Given the description of an element on the screen output the (x, y) to click on. 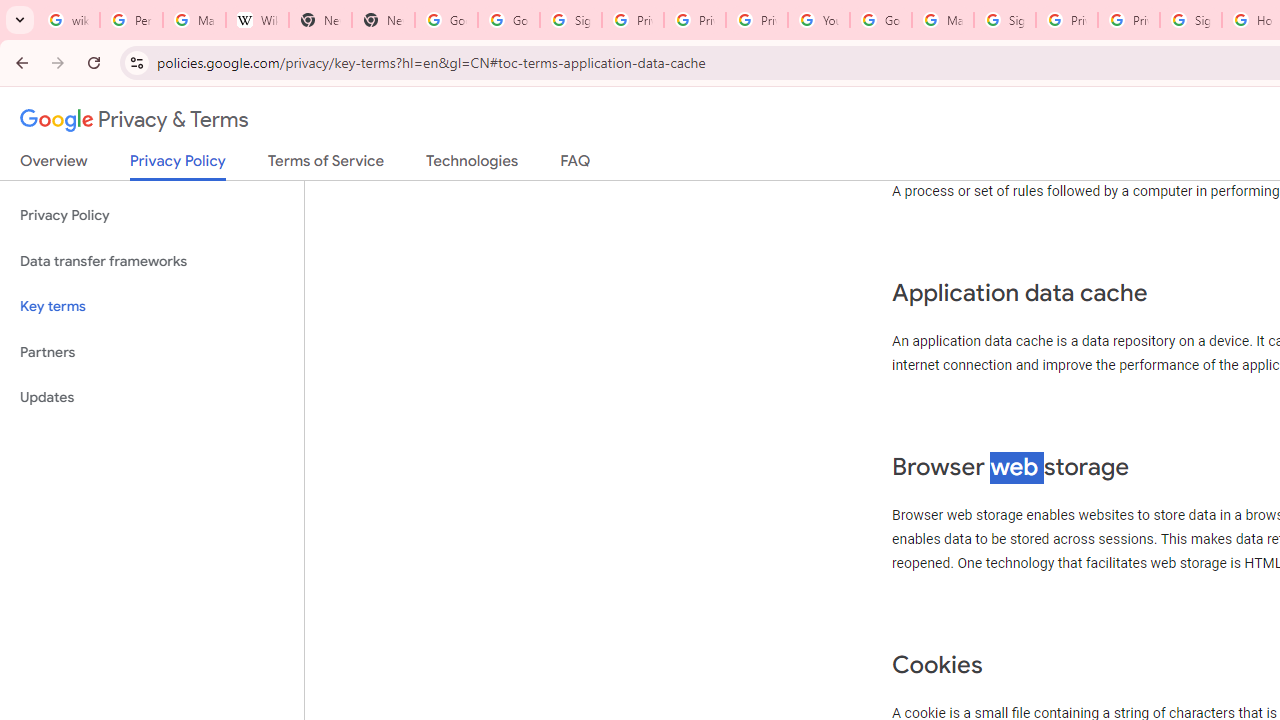
New Tab (320, 20)
Sign in - Google Accounts (570, 20)
Manage your Location History - Google Search Help (194, 20)
